Given the description of an element on the screen output the (x, y) to click on. 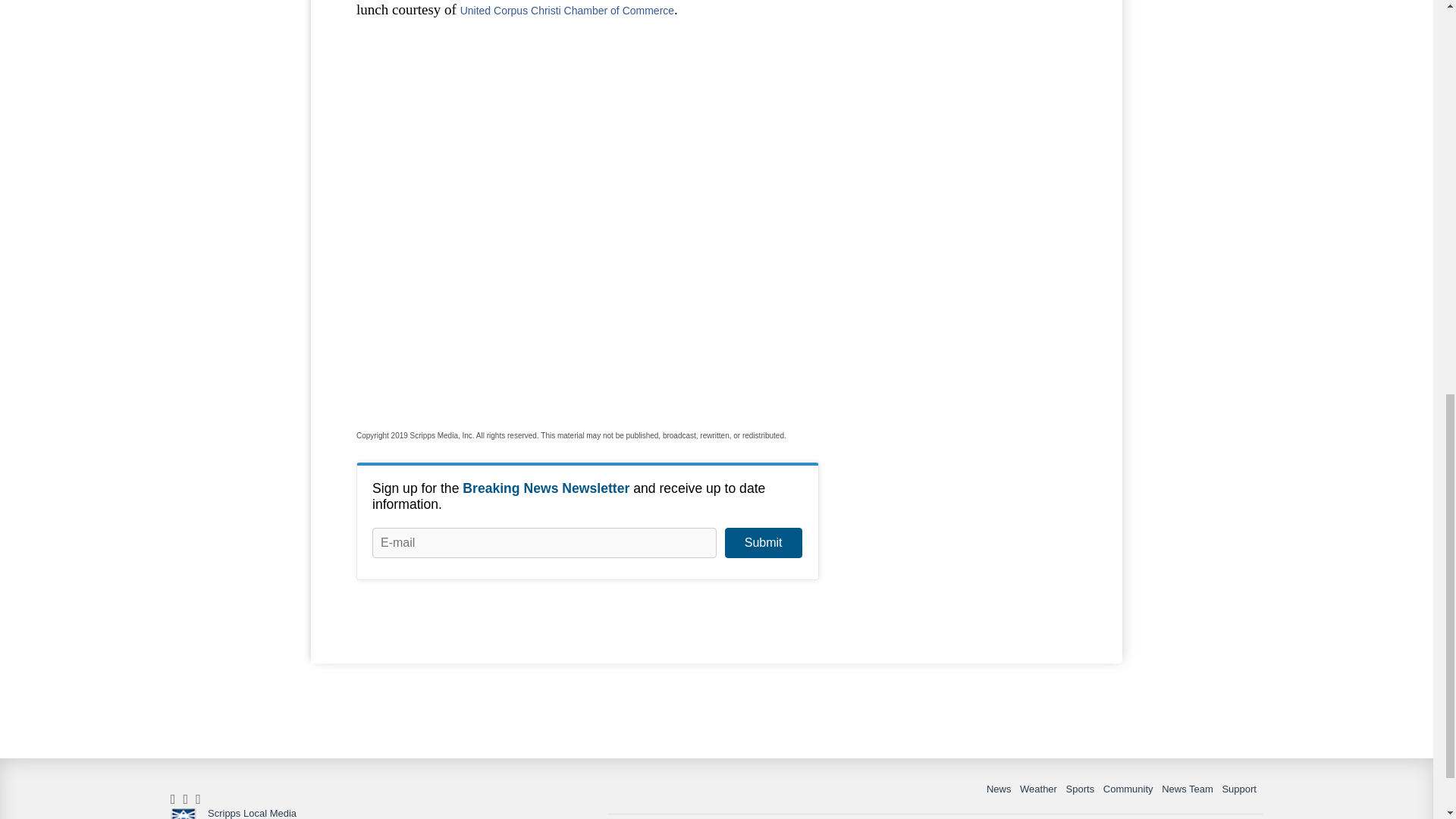
Submit (763, 542)
